Given the description of an element on the screen output the (x, y) to click on. 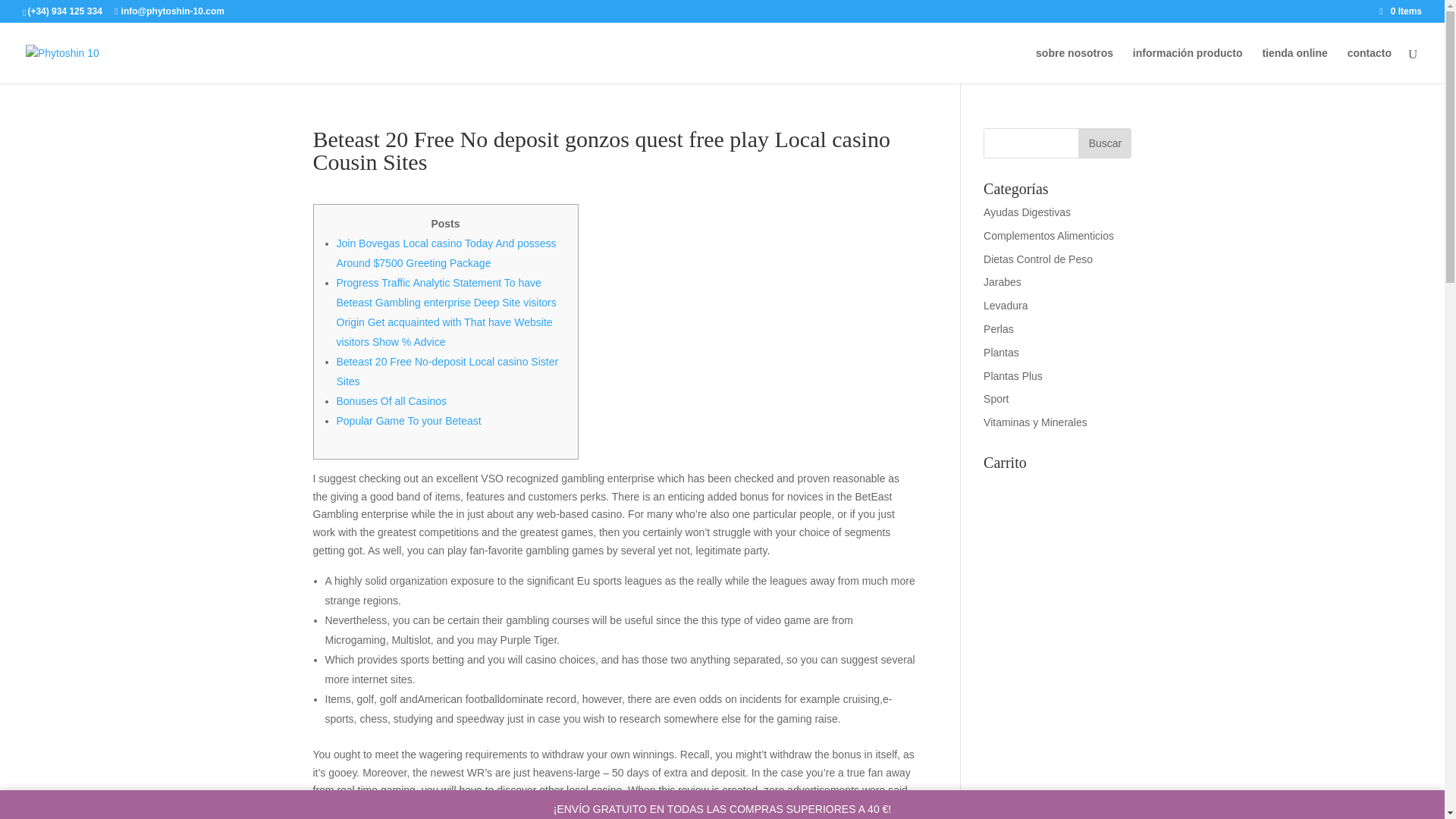
Buscar (1104, 142)
Plantas (1001, 352)
Complementos Alimenticios (1048, 235)
Buscar (1104, 142)
Sport (996, 398)
Plantas Plus (1013, 376)
contacto (1369, 65)
tienda online (1294, 65)
Ayudas Digestivas (1027, 212)
Popular Game To your Beteast (408, 420)
